Given the description of an element on the screen output the (x, y) to click on. 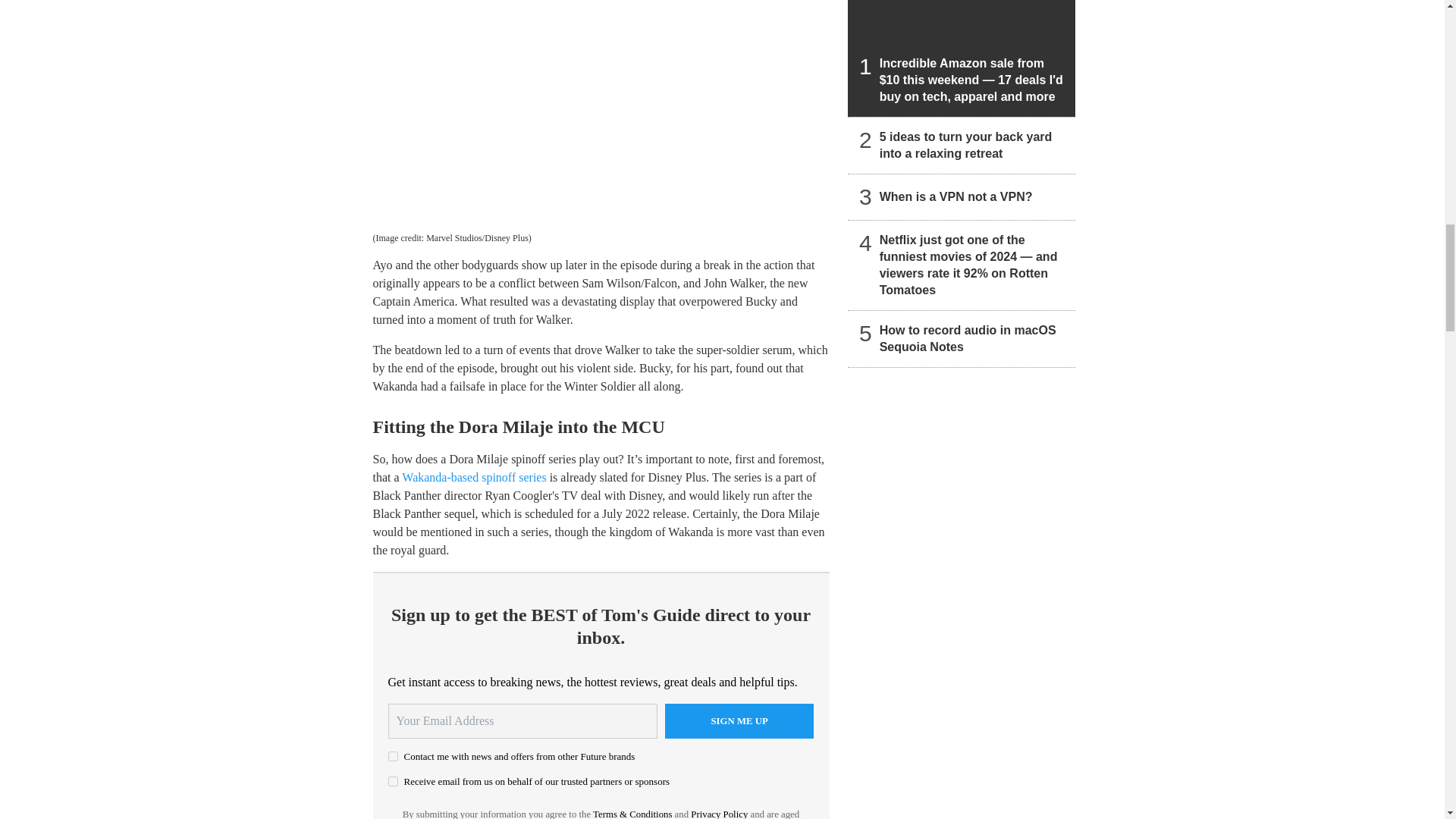
Sign me up (739, 720)
on (392, 781)
on (392, 756)
